Given the description of an element on the screen output the (x, y) to click on. 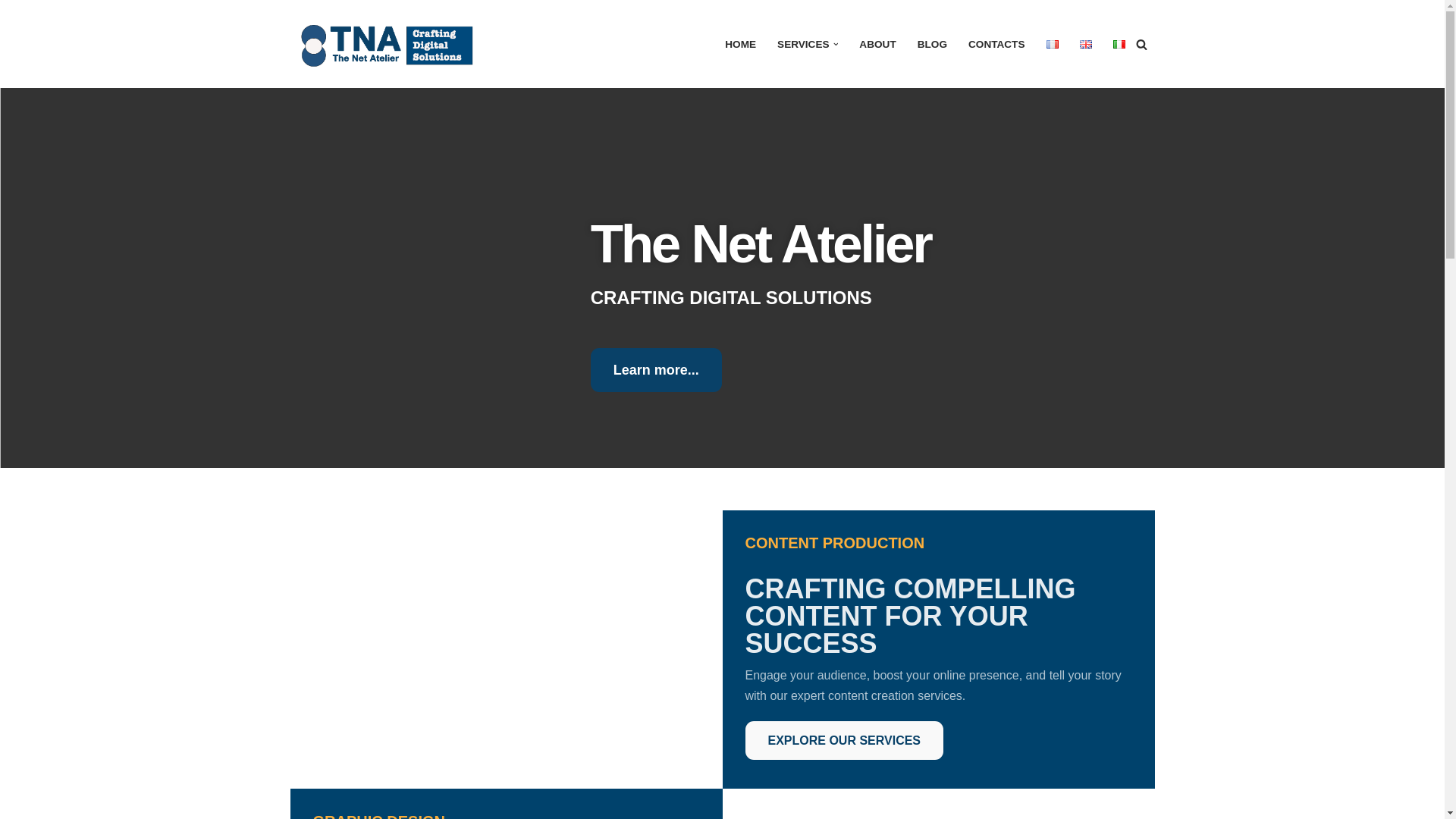
EXPLORE OUR SERVICES (843, 740)
BLOG (932, 44)
Learn more... (656, 370)
CONTACTS (996, 44)
ABOUT (877, 44)
Skip to content (11, 31)
SERVICES (803, 44)
HOME (740, 44)
